Given the description of an element on the screen output the (x, y) to click on. 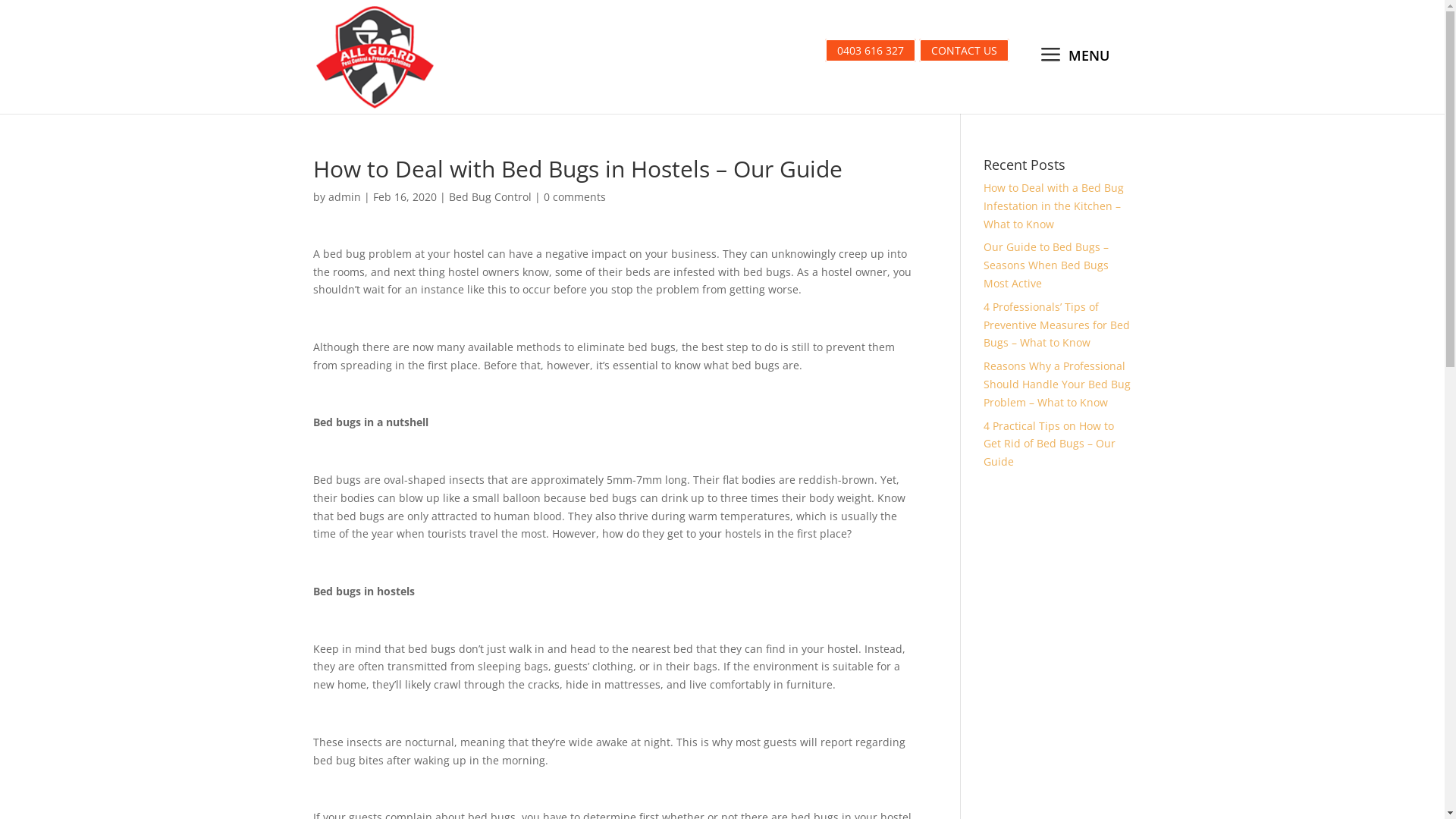
admin Element type: text (343, 196)
Bed Bug Control Element type: text (489, 196)
MENU Element type: text (1072, 56)
0403 616 327 Element type: text (870, 50)
0 comments Element type: text (573, 196)
CONTACT US Element type: text (964, 50)
